Given the description of an element on the screen output the (x, y) to click on. 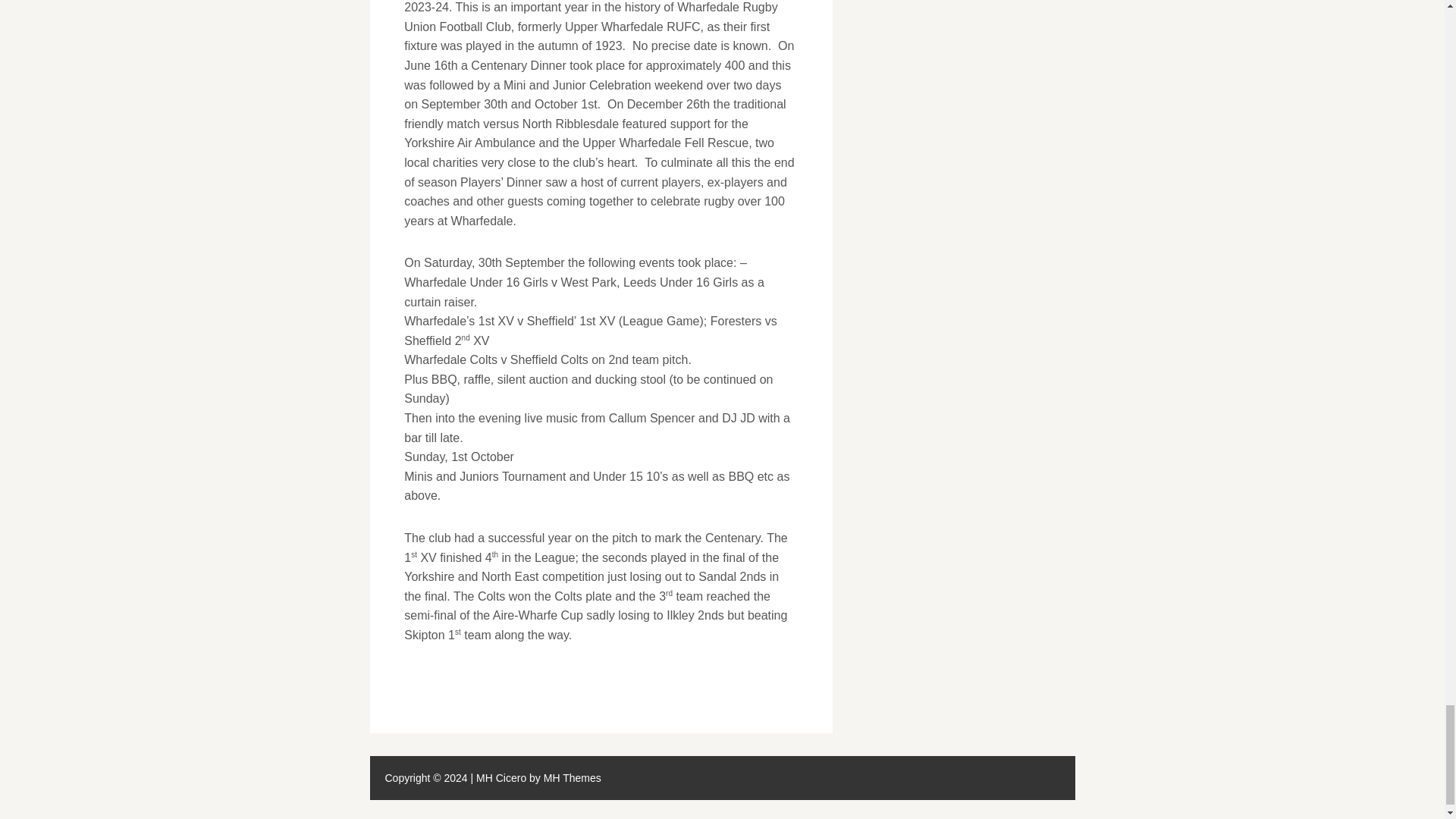
Premium WordPress Themes (572, 777)
